Given the description of an element on the screen output the (x, y) to click on. 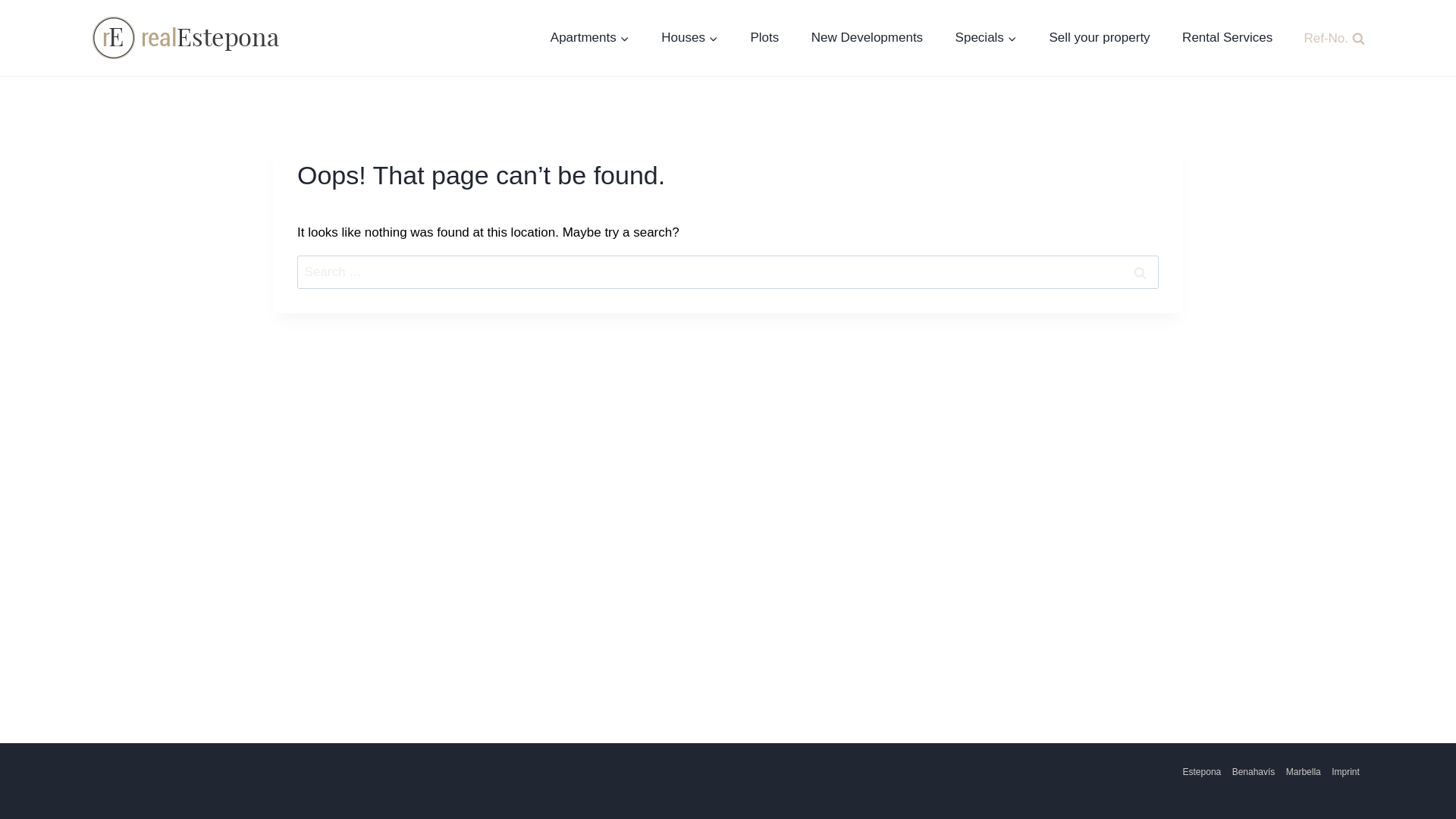
Search (1139, 272)
Specials (985, 37)
Houses (689, 37)
Plots (763, 37)
Apartments (589, 37)
New Developments (866, 37)
Search (1139, 272)
